Given the description of an element on the screen output the (x, y) to click on. 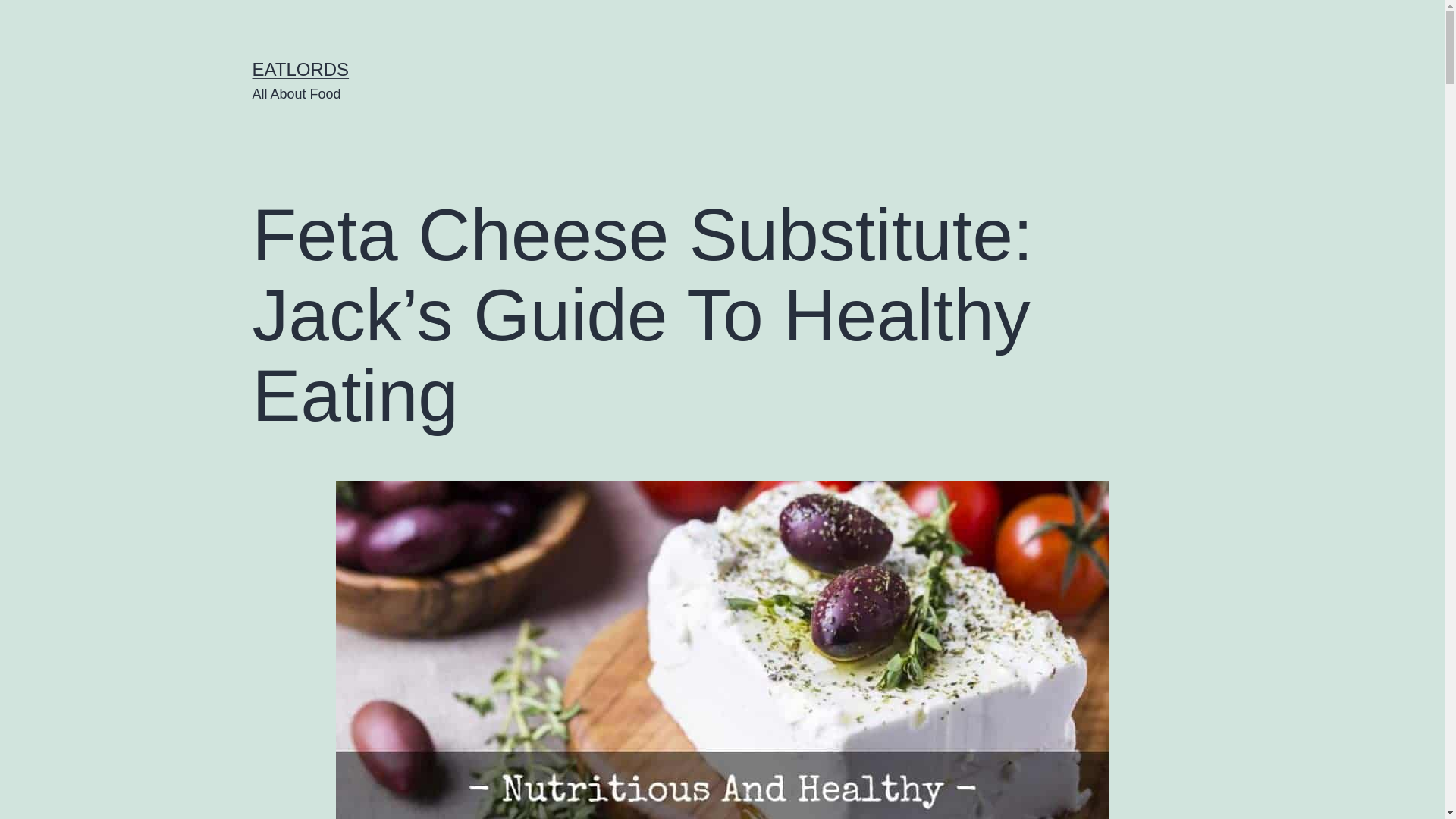
EATLORDS (300, 68)
